Given the description of an element on the screen output the (x, y) to click on. 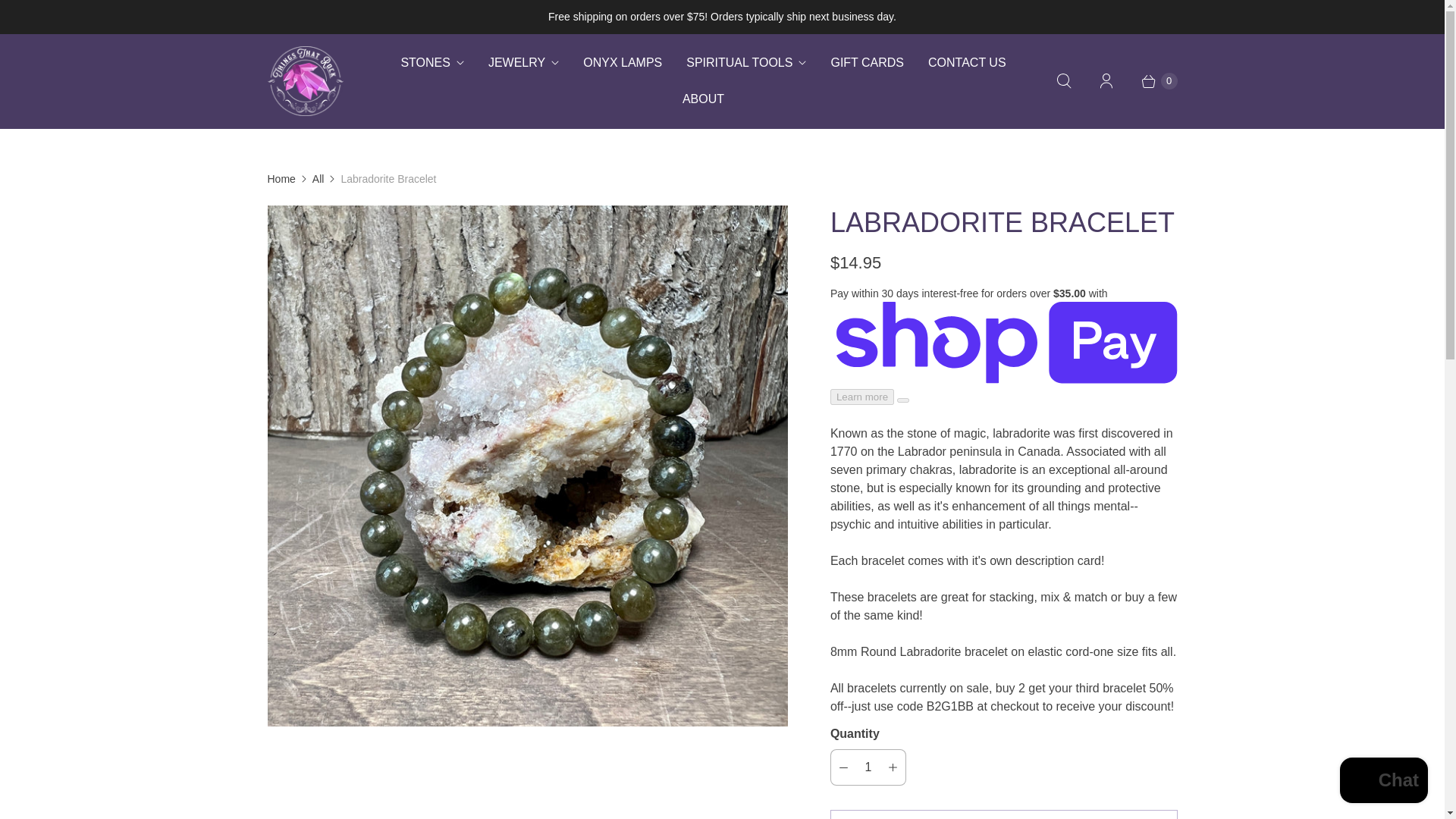
ABOUT (702, 99)
0 (1151, 81)
ONYX LAMPS (622, 63)
GIFT CARDS (866, 63)
CONTACT US (966, 63)
Shopify online store chat (1383, 781)
